Given the description of an element on the screen output the (x, y) to click on. 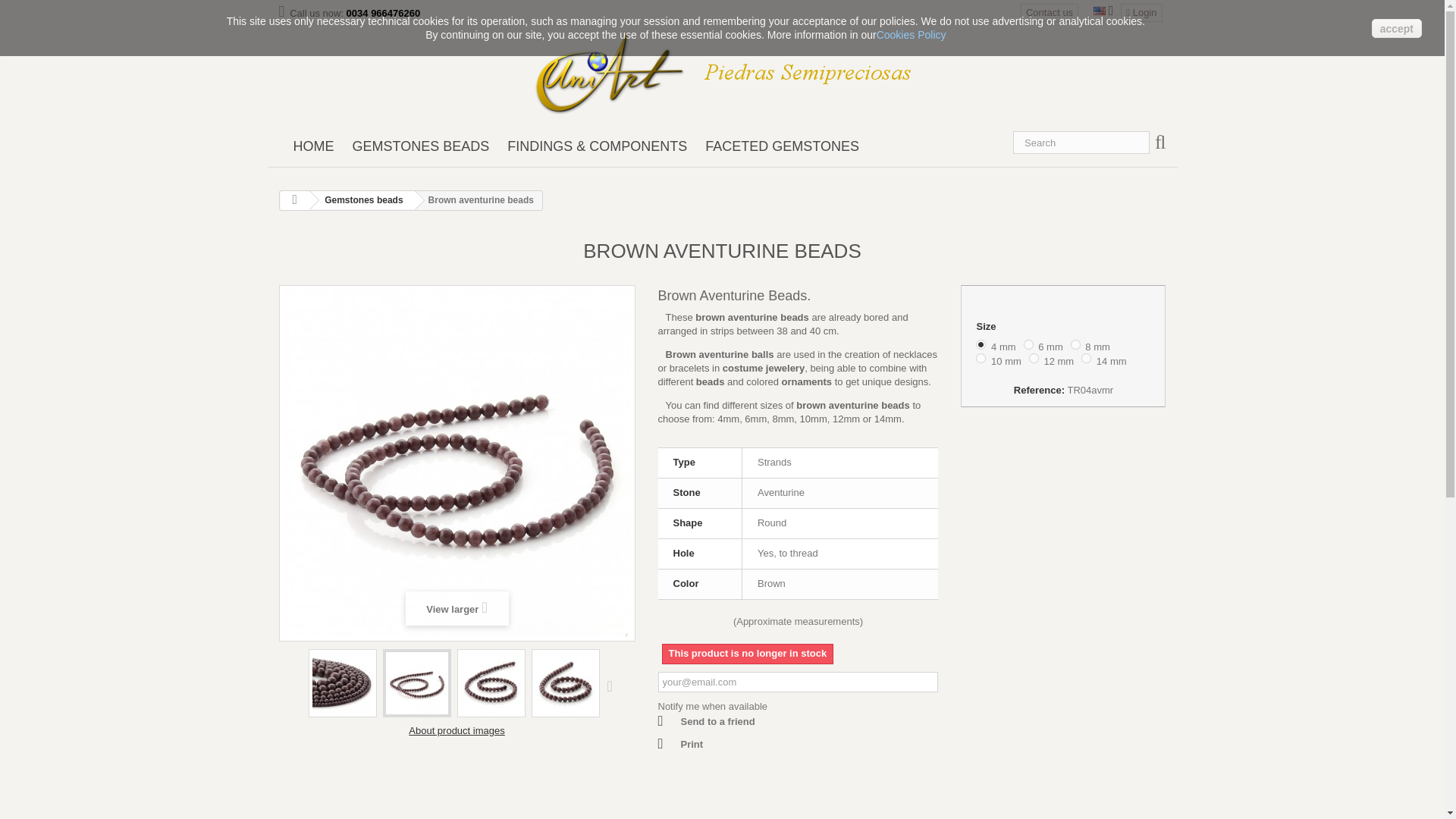
Gemstones beads (360, 199)
Login (1140, 12)
Return to Home (294, 199)
FACETED GEMSTONES (781, 146)
Brown aventurine beads - 4 mm (456, 463)
Piedras Semipreciosas (618, 72)
Brown aventurine beads - 6 mm (490, 682)
Notify me when available (713, 706)
Home (312, 146)
Print (680, 744)
